Given the description of an element on the screen output the (x, y) to click on. 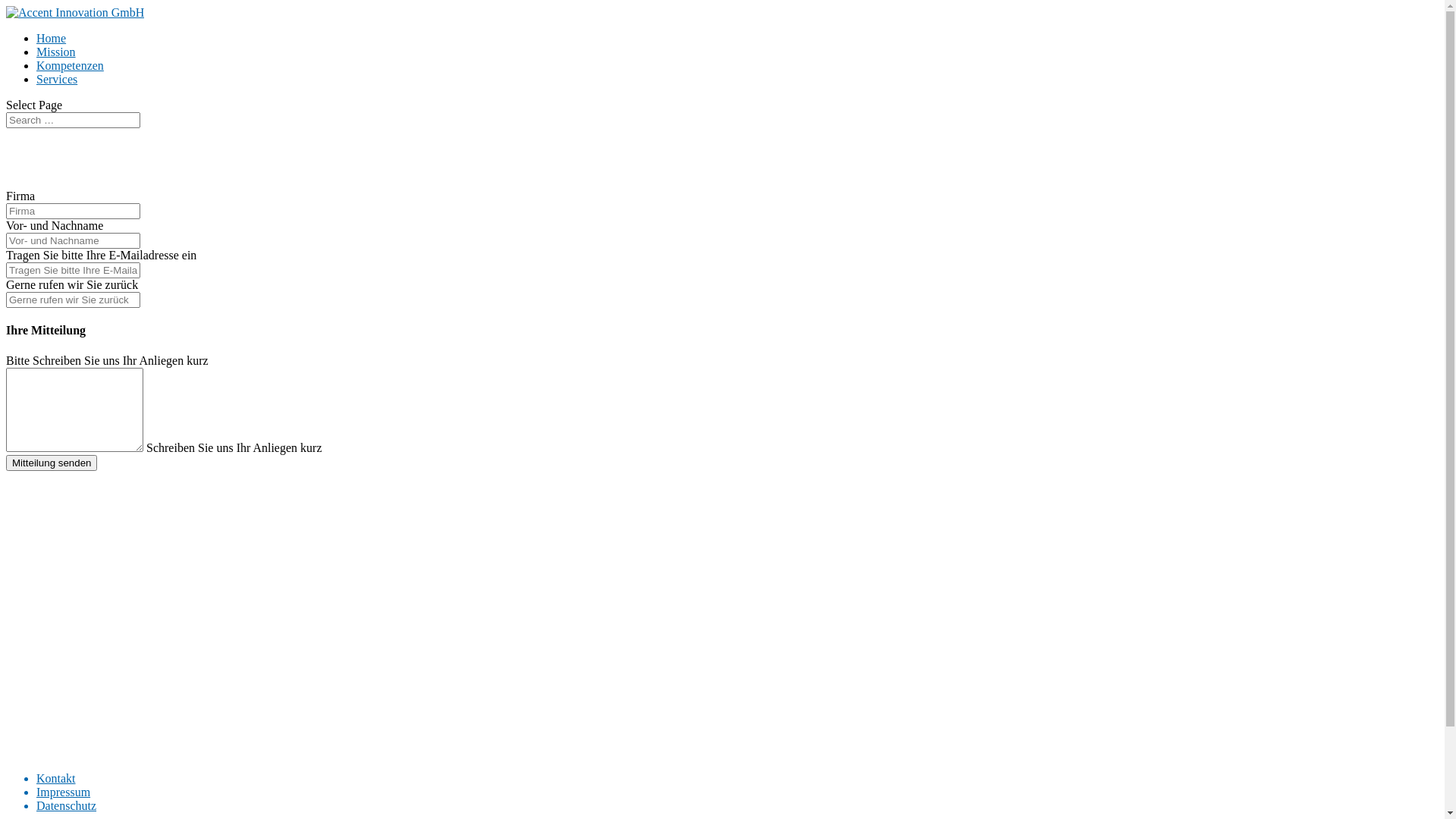
Mitteilung senden Element type: text (51, 462)
Datenschutz Element type: text (66, 805)
Search for: Element type: hover (73, 120)
Kontakt Element type: text (55, 777)
Home Element type: text (50, 37)
Impressum Element type: text (63, 791)
Kompetenzen Element type: text (69, 65)
Mission Element type: text (55, 51)
Services Element type: text (56, 78)
